Given the description of an element on the screen output the (x, y) to click on. 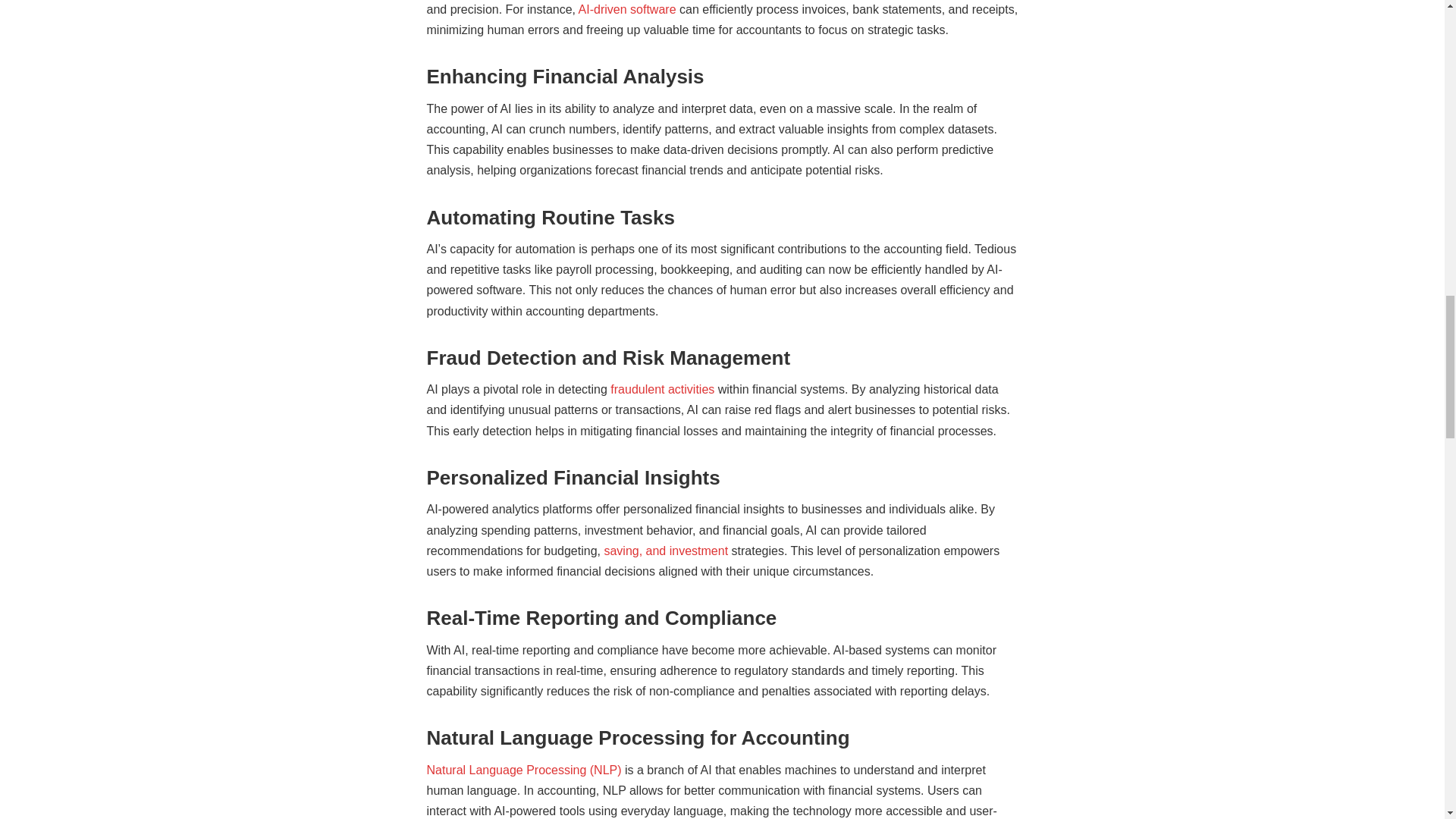
saving, and investment (666, 550)
fraudulent activities (662, 389)
AI-driven software (627, 9)
